Given the description of an element on the screen output the (x, y) to click on. 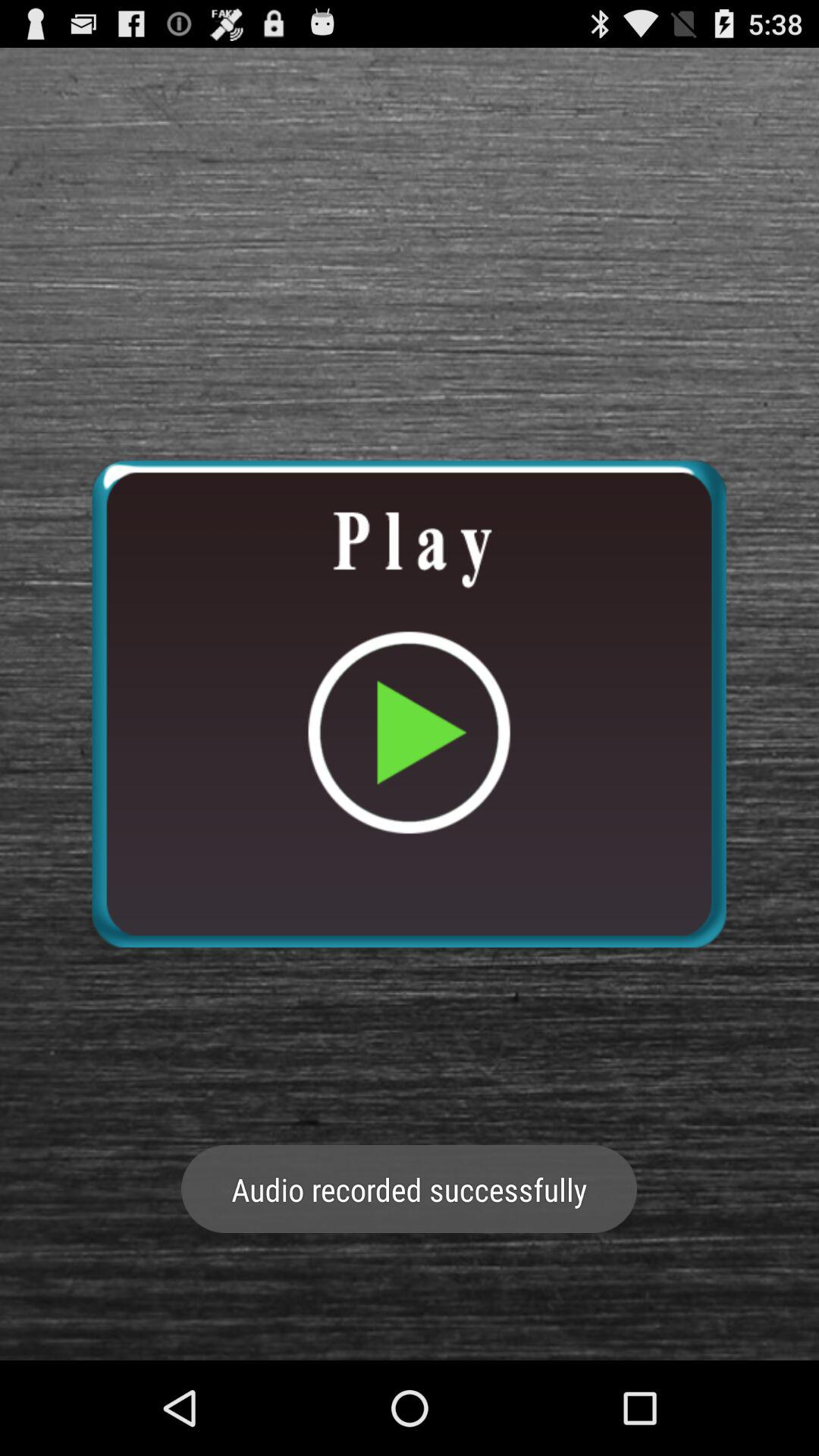
play the audio (409, 703)
